Given the description of an element on the screen output the (x, y) to click on. 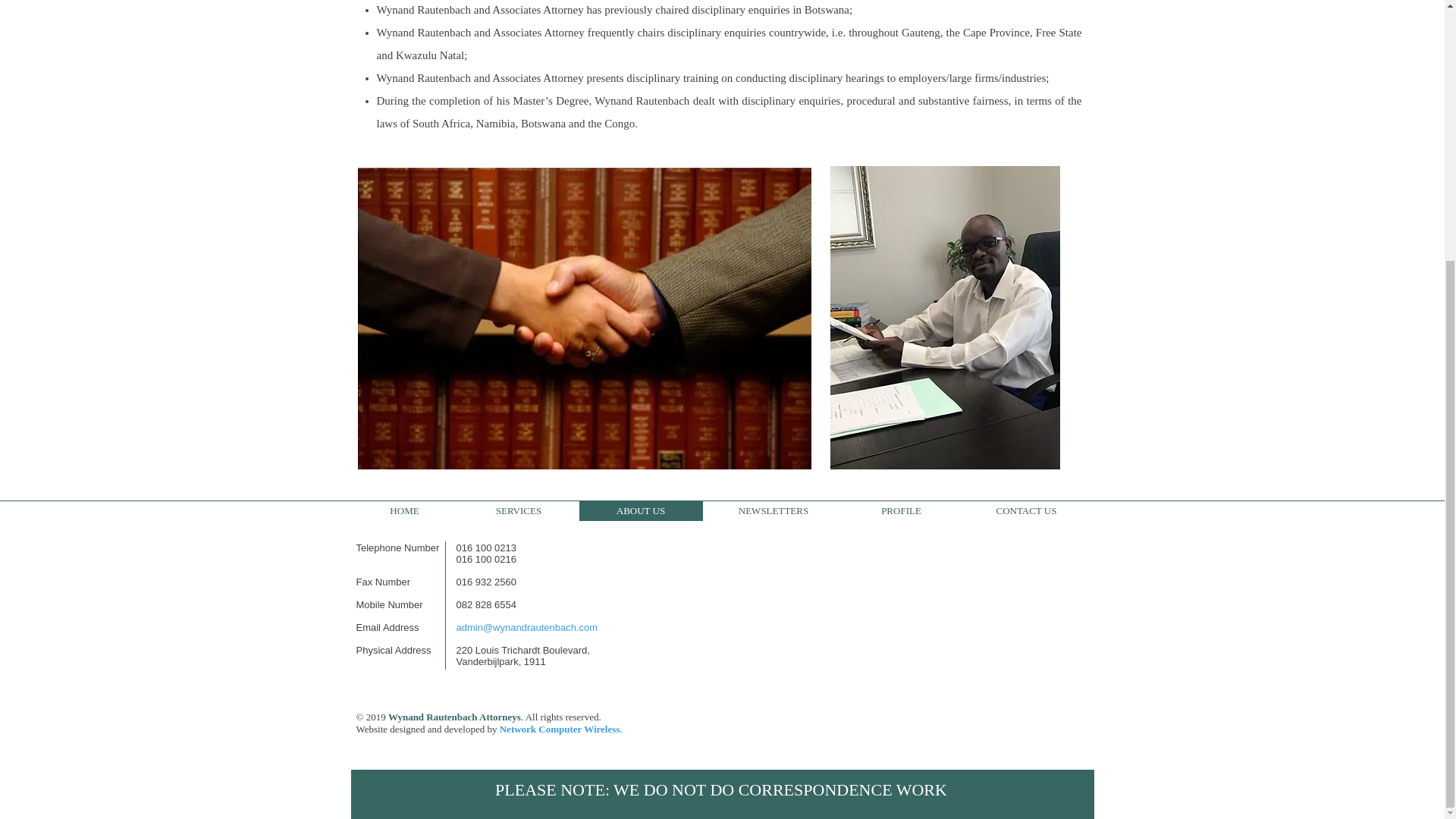
HOME (404, 510)
NEWSLETTERS (772, 510)
Network Computer Wireless (559, 728)
ABOUT US (639, 510)
PROFILE (900, 510)
SERVICES (518, 510)
Google Maps (914, 631)
CONTACT US (1026, 510)
